Given the description of an element on the screen output the (x, y) to click on. 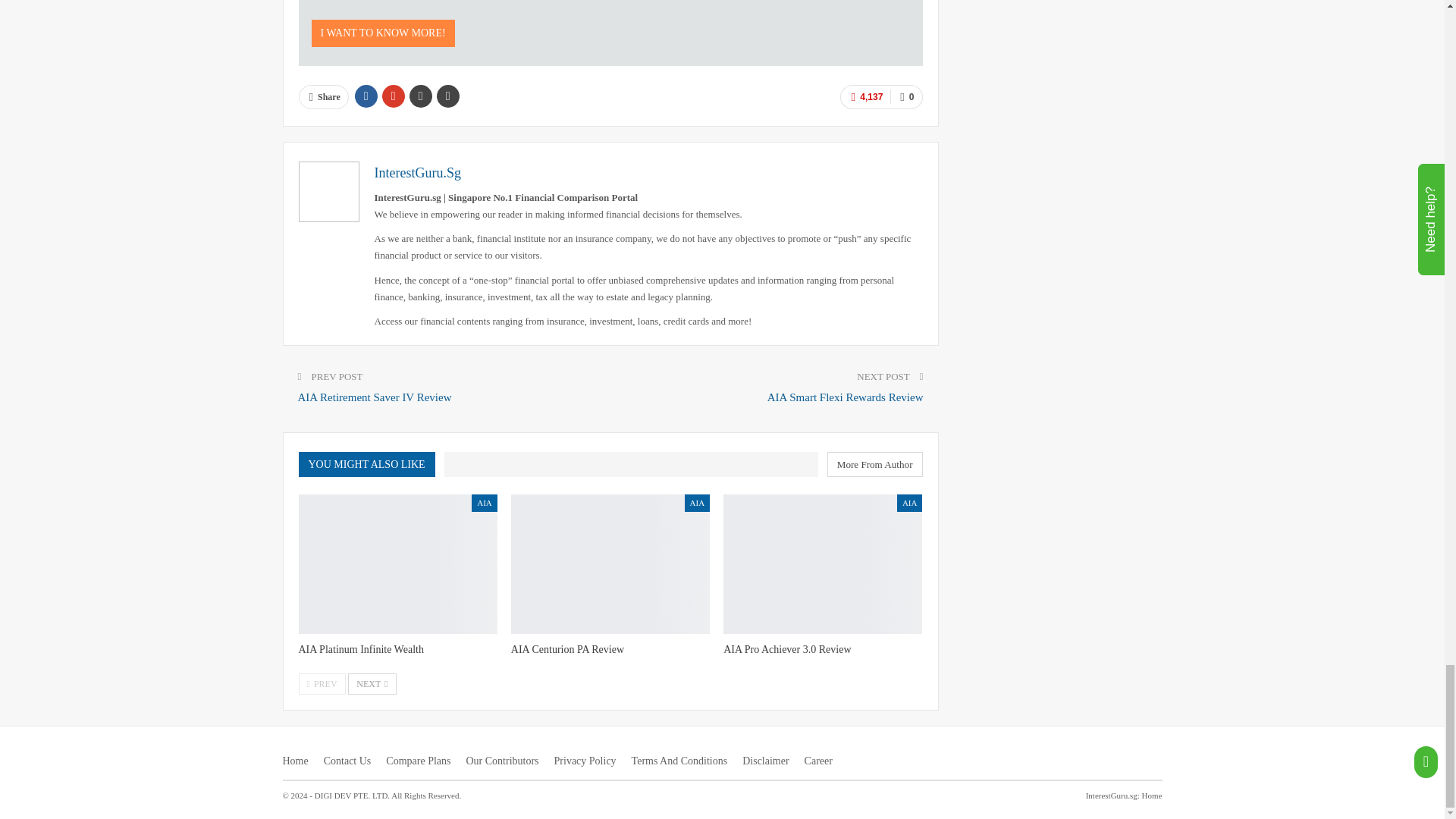
AIA Platinum Infinite Wealth (397, 563)
